Given the description of an element on the screen output the (x, y) to click on. 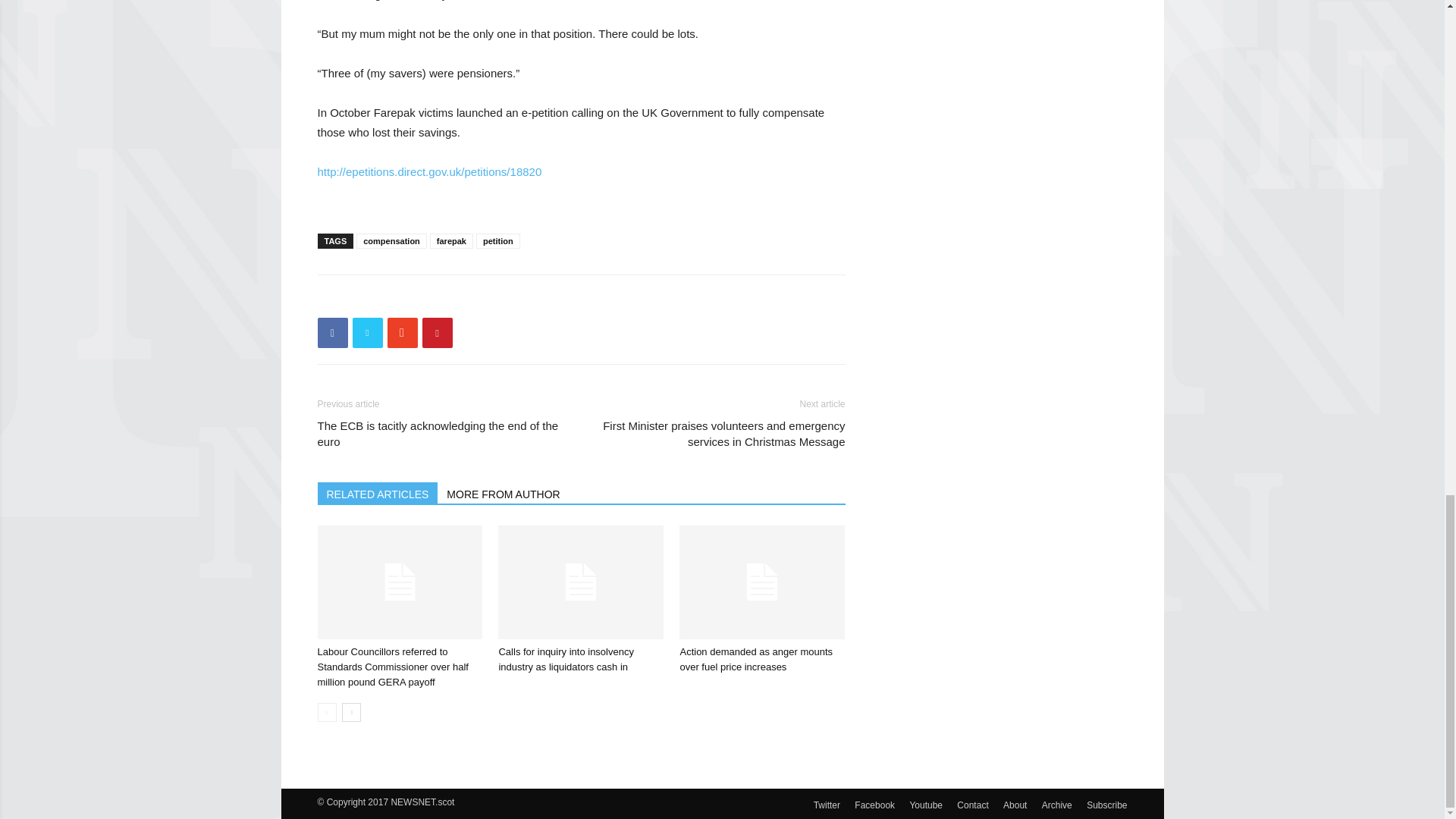
farepak (451, 240)
Action demanded as anger mounts over fuel price increases (755, 659)
compensation (391, 240)
Action demanded as anger mounts over fuel price increases (761, 582)
